Given the description of an element on the screen output the (x, y) to click on. 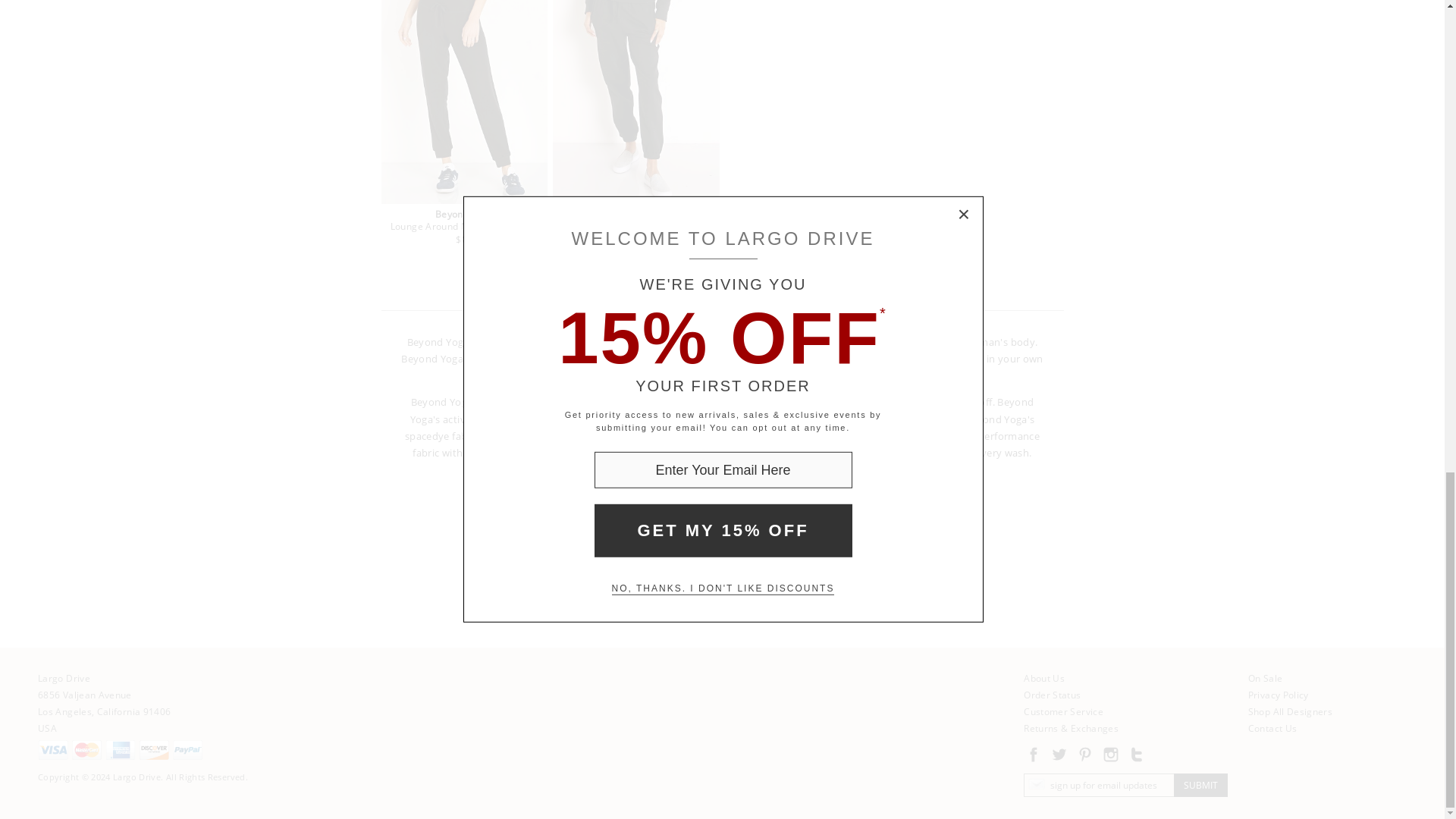
sign up for email updates (1098, 784)
SUBMIT (1200, 784)
